Given the description of an element on the screen output the (x, y) to click on. 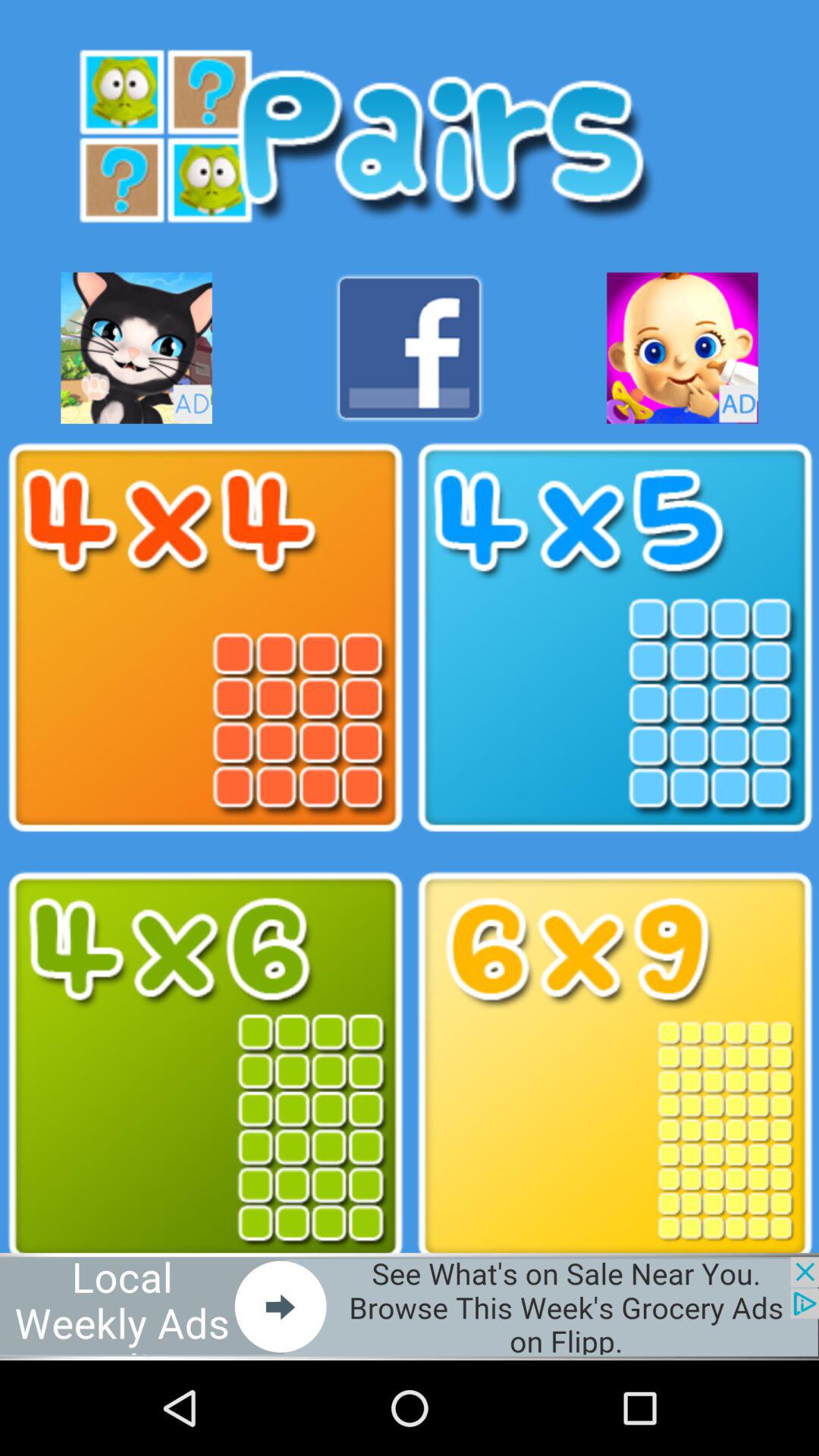
advertisement banner (409, 1306)
